Given the description of an element on the screen output the (x, y) to click on. 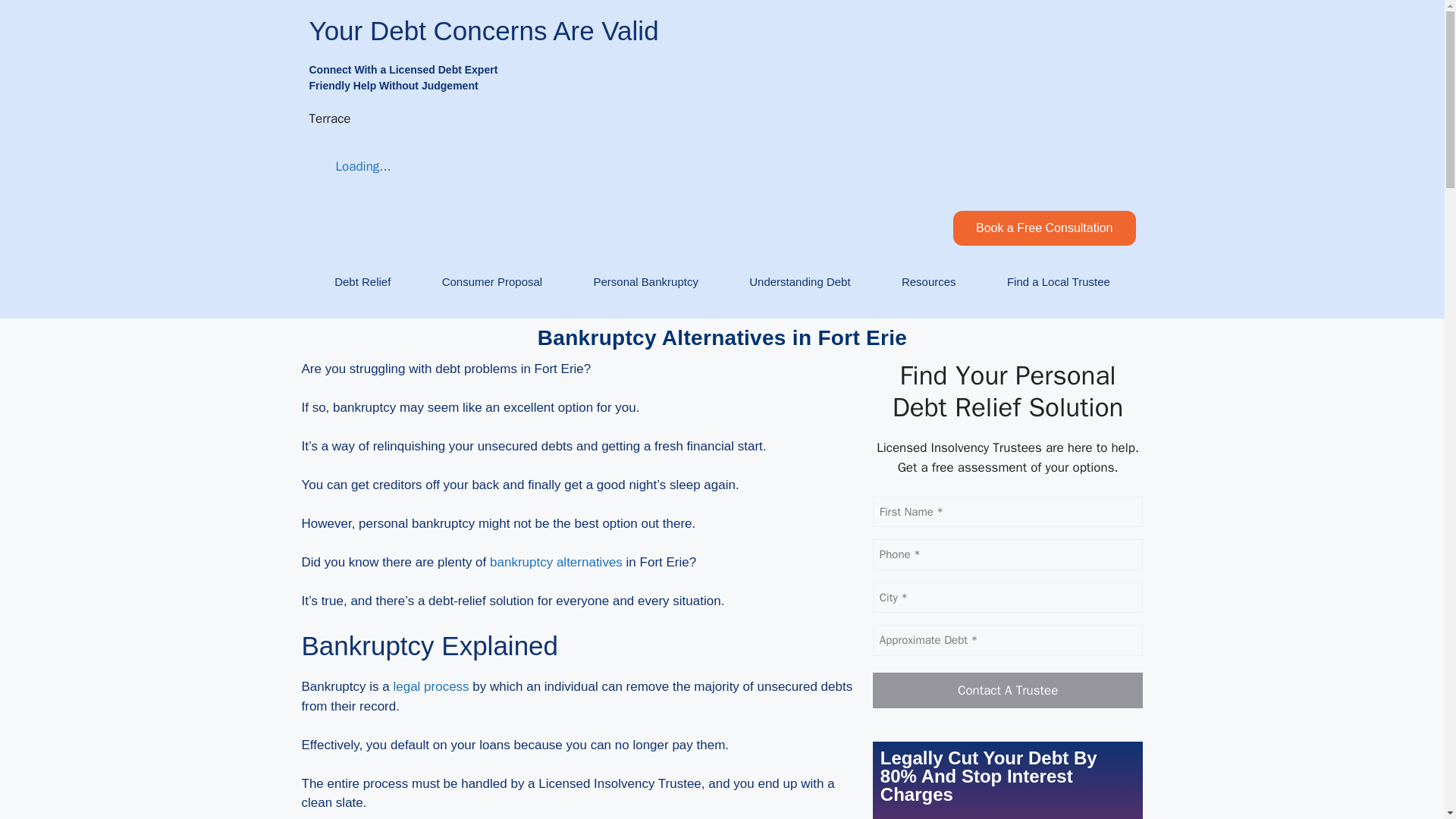
Understanding Debt (799, 282)
Loading... (349, 166)
Contact A Trustee (1007, 689)
Book a Free Consultation (1044, 227)
Consumer Proposal (491, 282)
Debt Relief (362, 282)
Resources (928, 282)
Personal Bankruptcy (645, 282)
Find a Local Trustee (1058, 282)
